Given the description of an element on the screen output the (x, y) to click on. 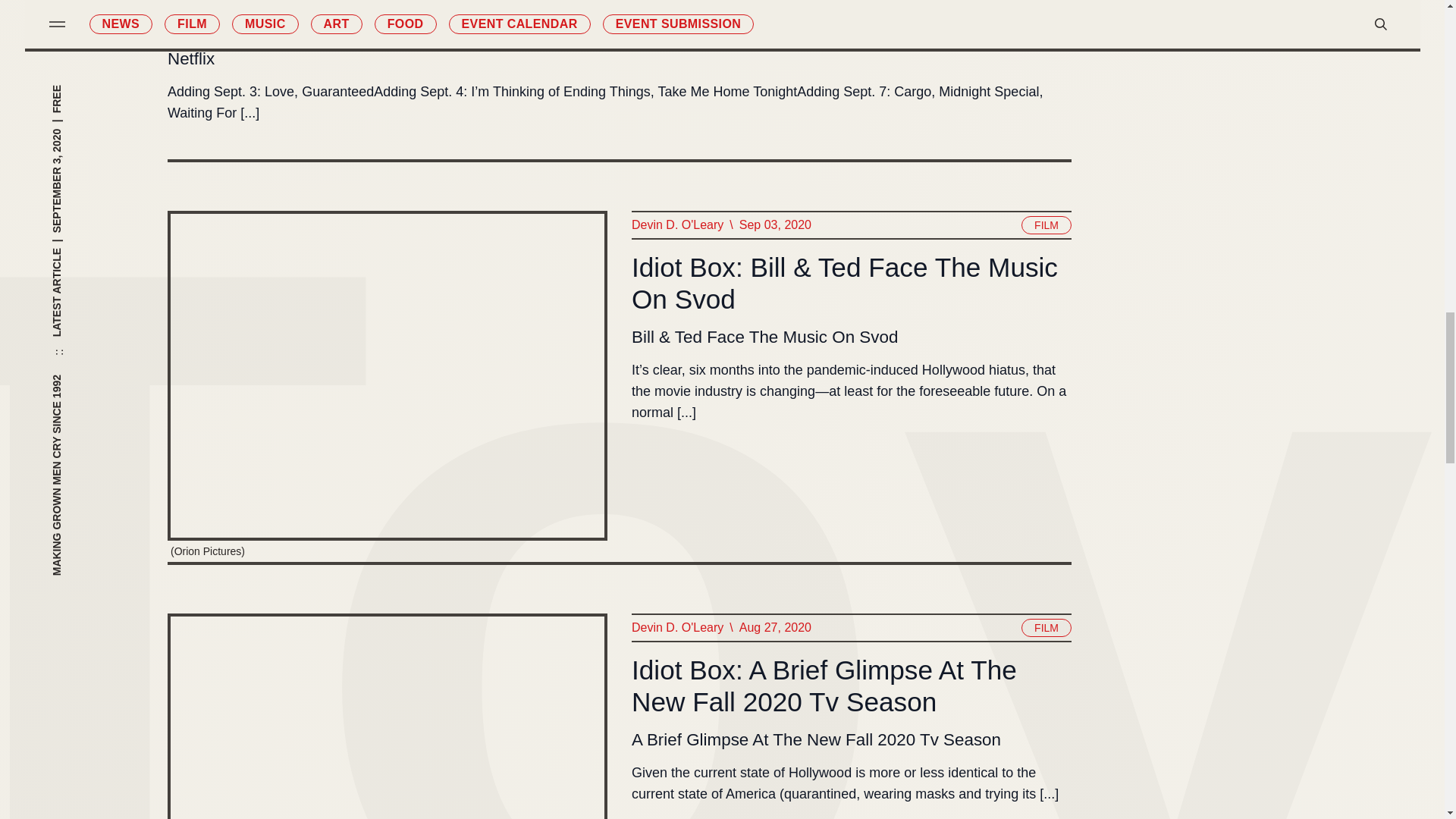
FILM (1046, 628)
FILM (1046, 225)
Devin D. O'Leary (676, 627)
Devin D. O'Leary (676, 224)
